Given the description of an element on the screen output the (x, y) to click on. 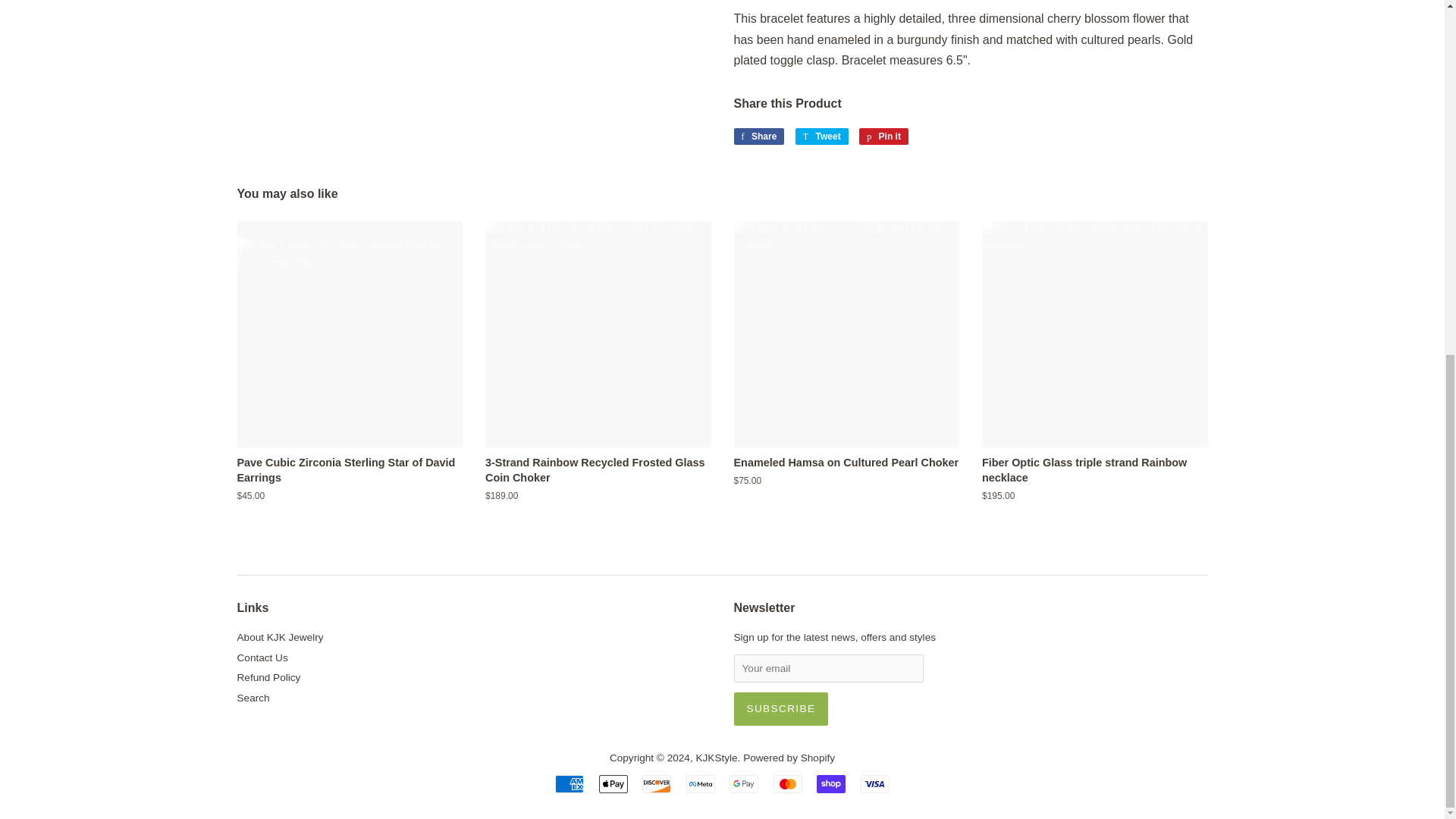
Google Pay (743, 783)
Apple Pay (612, 783)
Share on Facebook (758, 135)
Shop Pay (830, 783)
Discover (656, 783)
Meta Pay (699, 783)
American Express (568, 783)
Tweet on Twitter (821, 135)
Mastercard (787, 783)
Pin on Pinterest (883, 135)
Subscribe (780, 708)
Visa (874, 783)
